Given the description of an element on the screen output the (x, y) to click on. 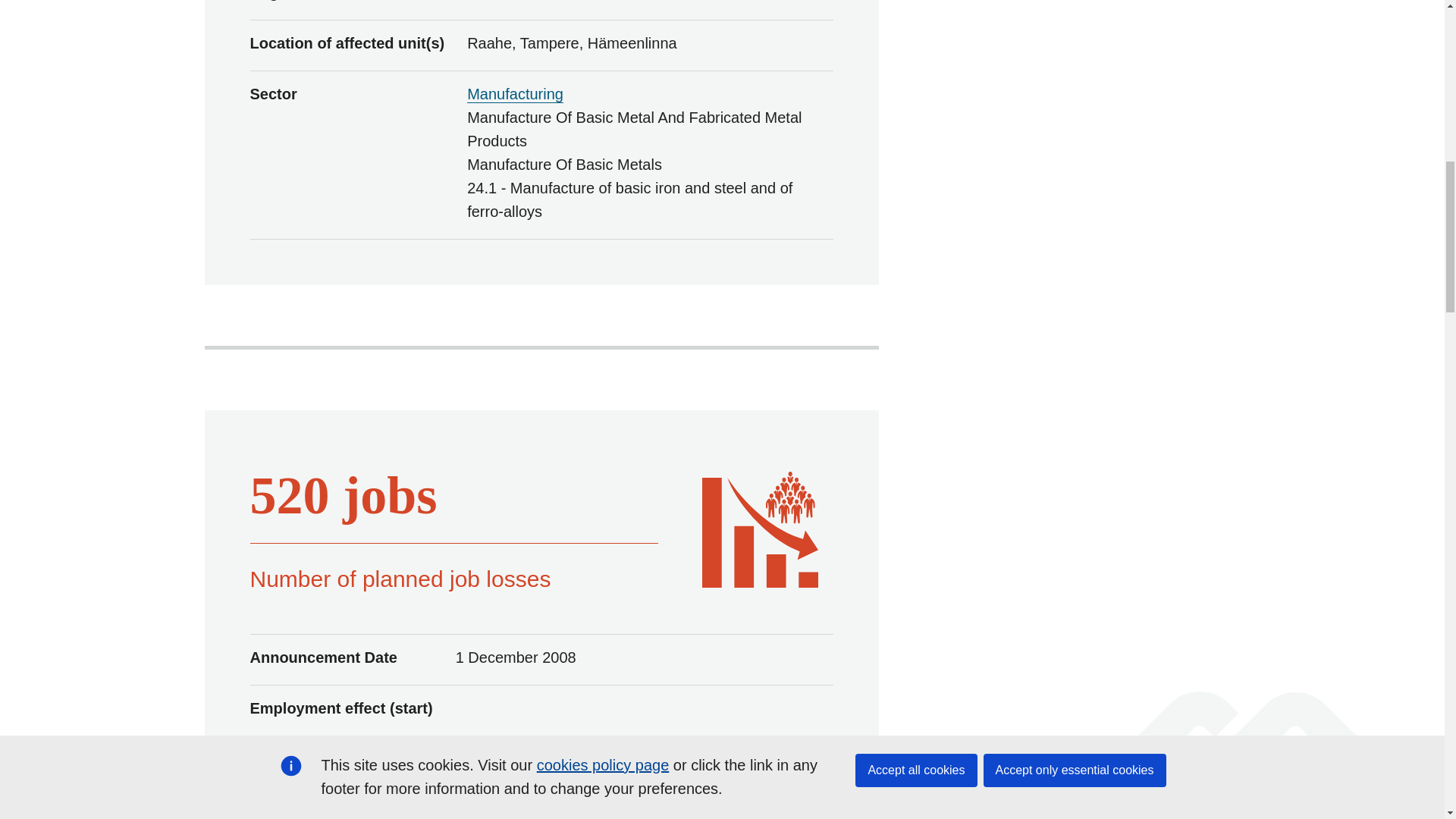
Manufacturing (515, 94)
